Given the description of an element on the screen output the (x, y) to click on. 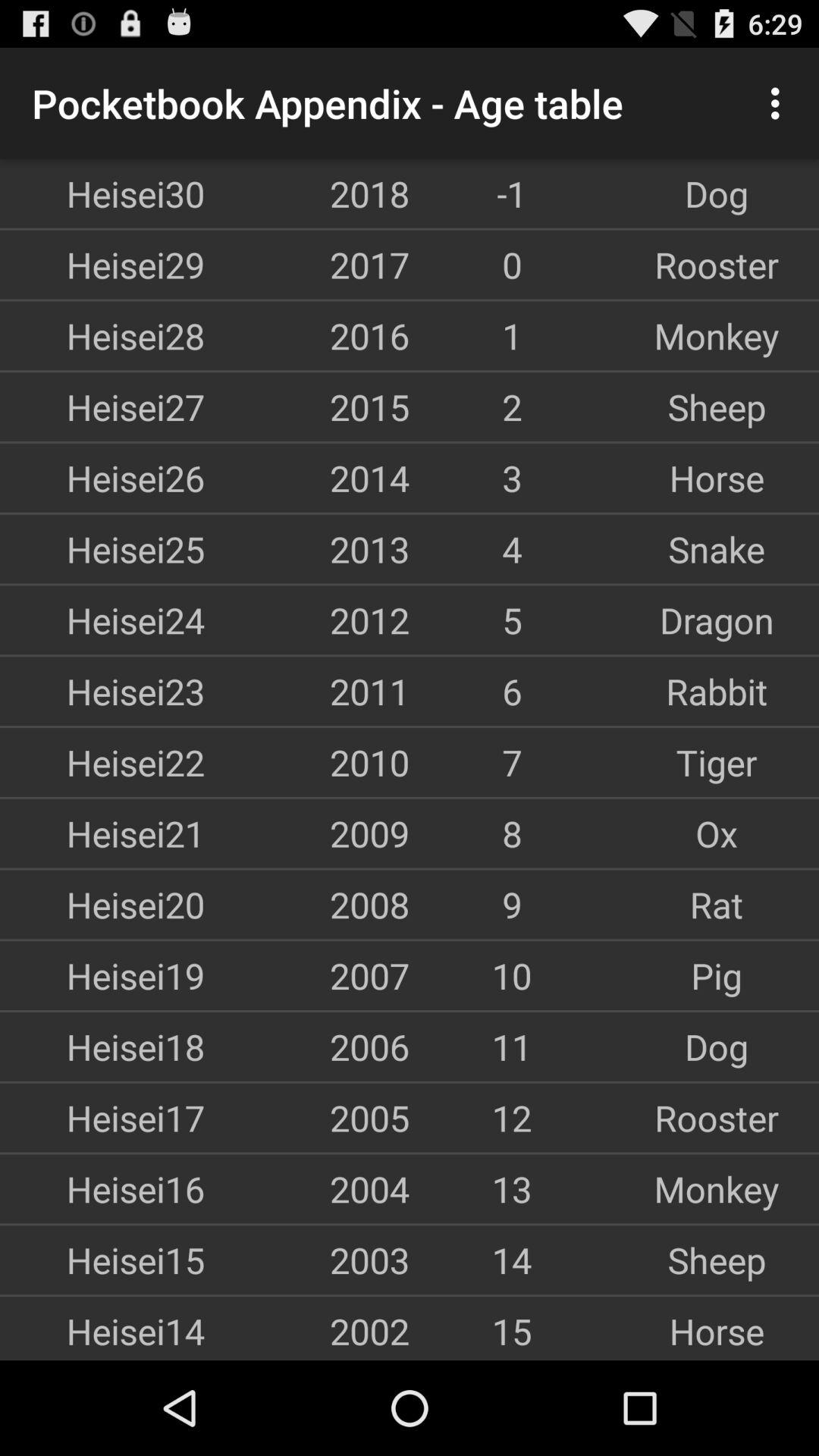
open icon next to the 14 item (306, 1259)
